Given the description of an element on the screen output the (x, y) to click on. 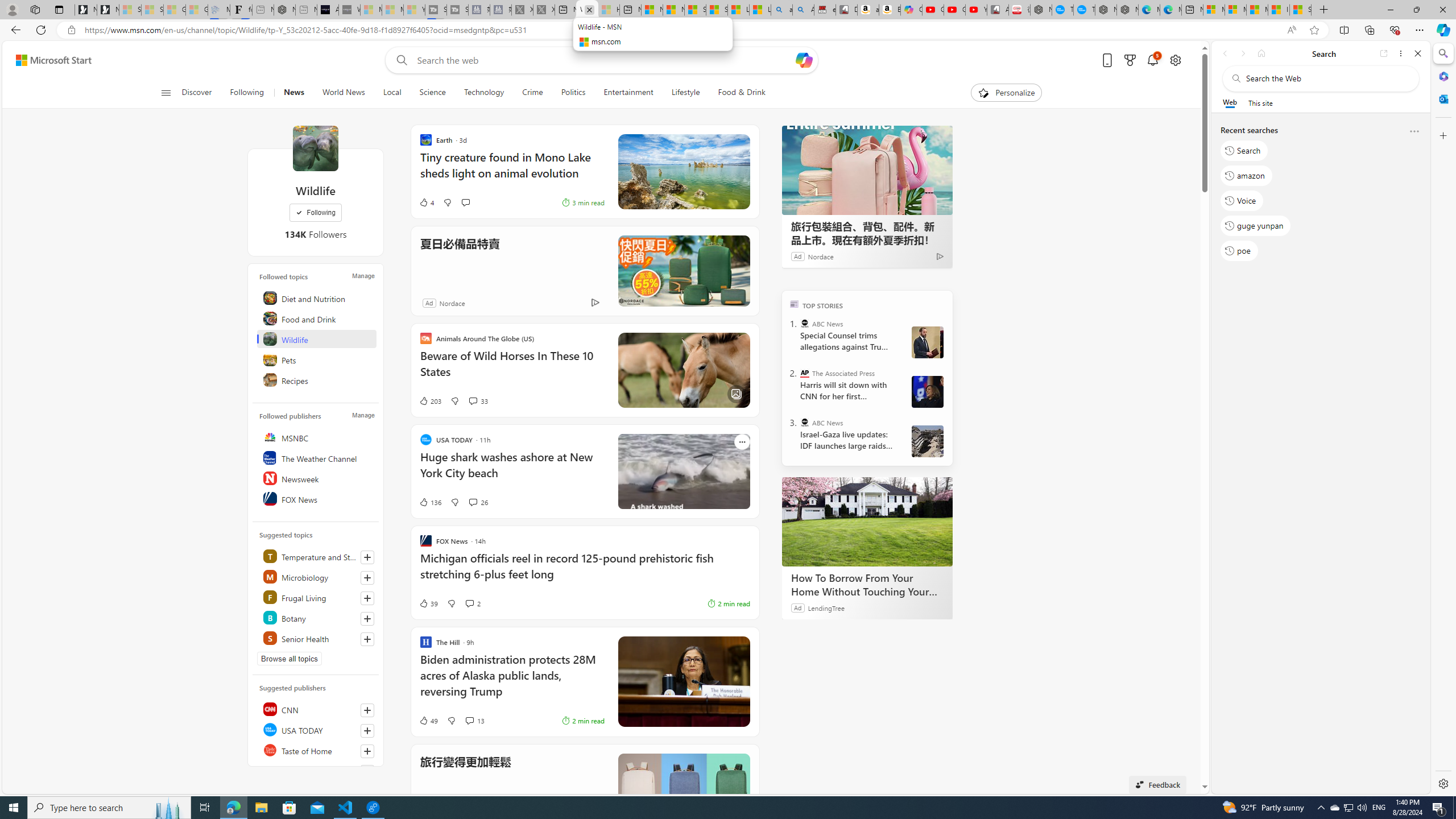
Open settings (1175, 60)
News (293, 92)
